Given the description of an element on the screen output the (x, y) to click on. 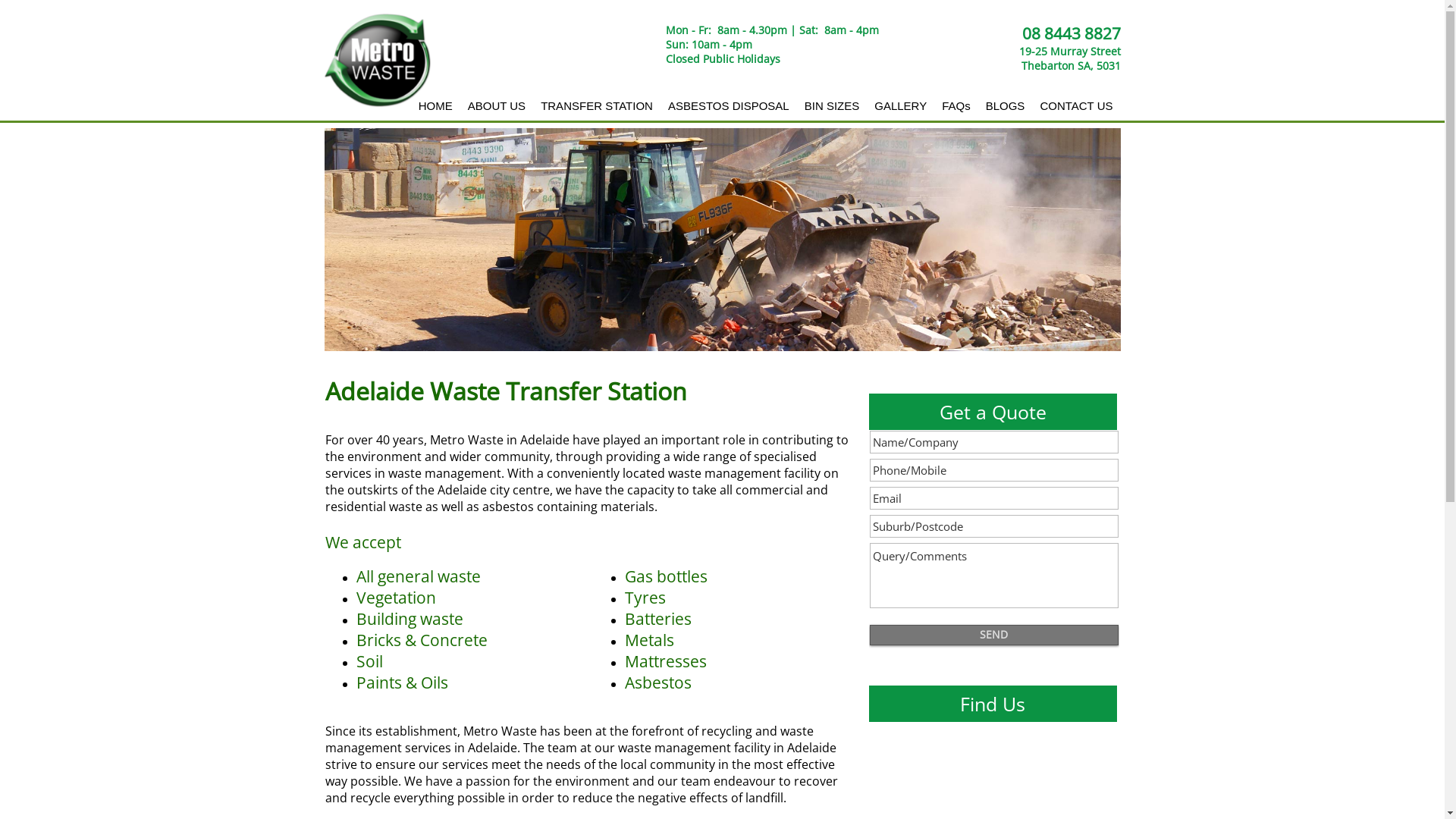
ASBESTOS DISPOSAL Element type: text (728, 106)
ABOUT US Element type: text (496, 106)
BIN SIZES Element type: text (832, 106)
GALLERY Element type: text (900, 106)
TRANSFER STATION Element type: text (596, 106)
FAQs Element type: text (956, 106)
CONTACT US Element type: text (1076, 106)
HOME Element type: text (435, 106)
BLOGS Element type: text (1005, 106)
